Given the description of an element on the screen output the (x, y) to click on. 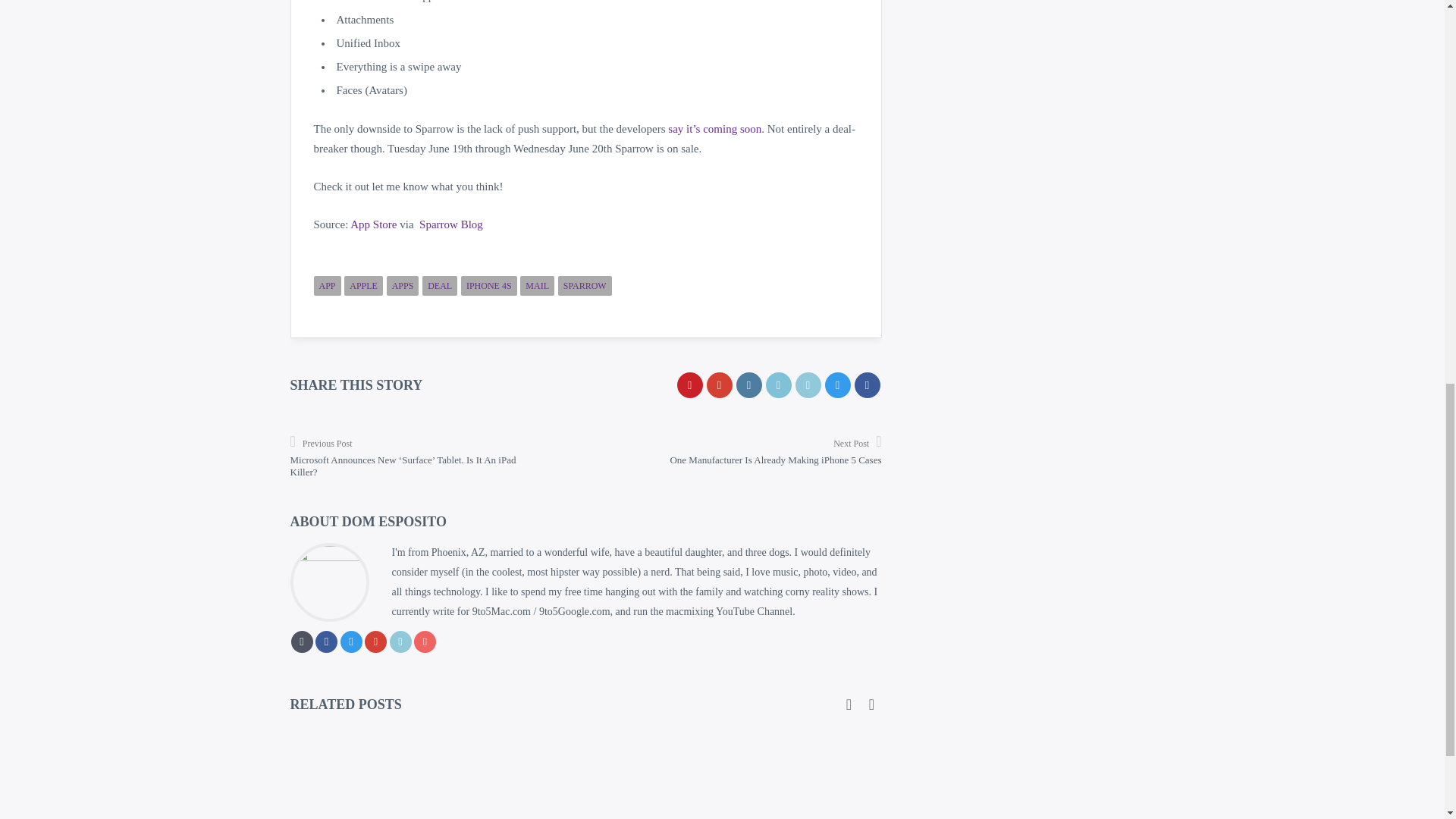
linkedin (807, 385)
facebook (866, 385)
twitter (837, 385)
reddit (778, 385)
tumblr (748, 385)
google (719, 385)
